Given the description of an element on the screen output the (x, y) to click on. 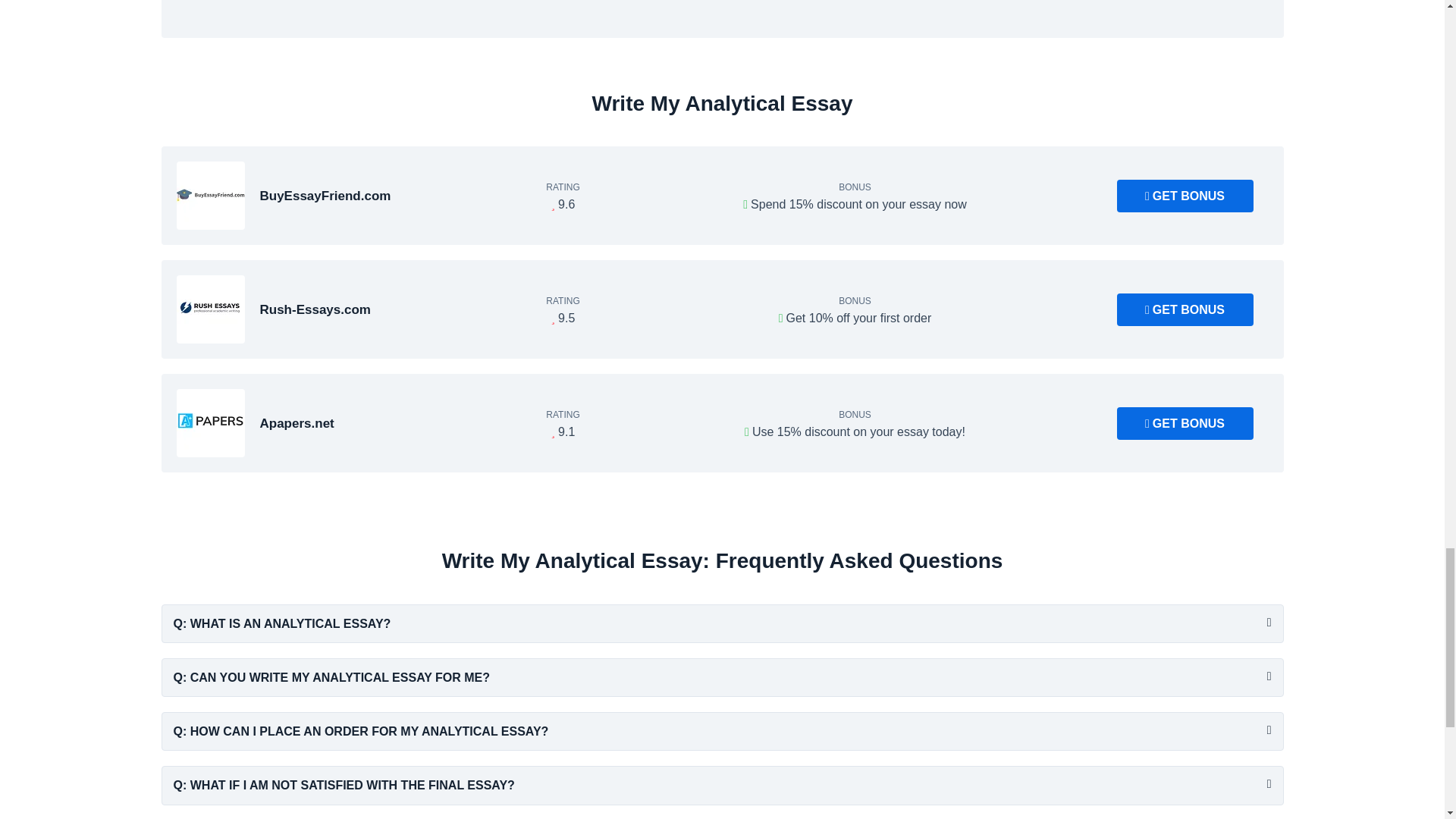
Apapers.net (296, 423)
GET BONUS (1184, 309)
BuyEssayFriend.com (210, 195)
Rush-Essays.com (314, 309)
GET BONUS (1184, 195)
GET BONUS (1184, 423)
Rush-Essays.com (210, 309)
Apapers.net (210, 423)
BuyEssayFriend.com (324, 196)
